Given the description of an element on the screen output the (x, y) to click on. 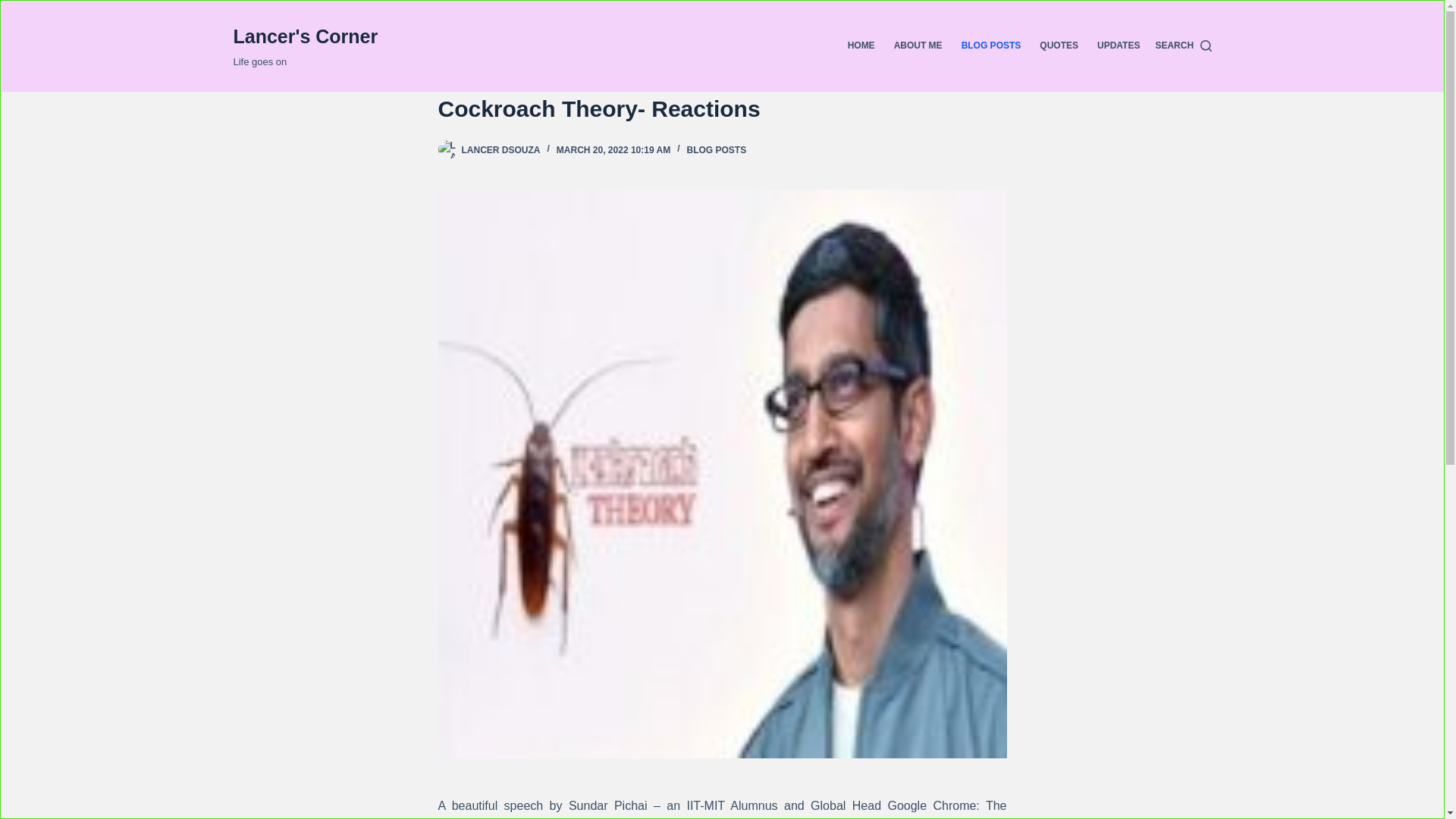
BLOG POSTS (715, 149)
Posts by Lancer Dsouza (500, 149)
Cockroach Theory- Reactions (722, 108)
Skip to content (15, 7)
Lancer's Corner (305, 35)
SEARCH (1182, 46)
LANCER DSOUZA (500, 149)
